Given the description of an element on the screen output the (x, y) to click on. 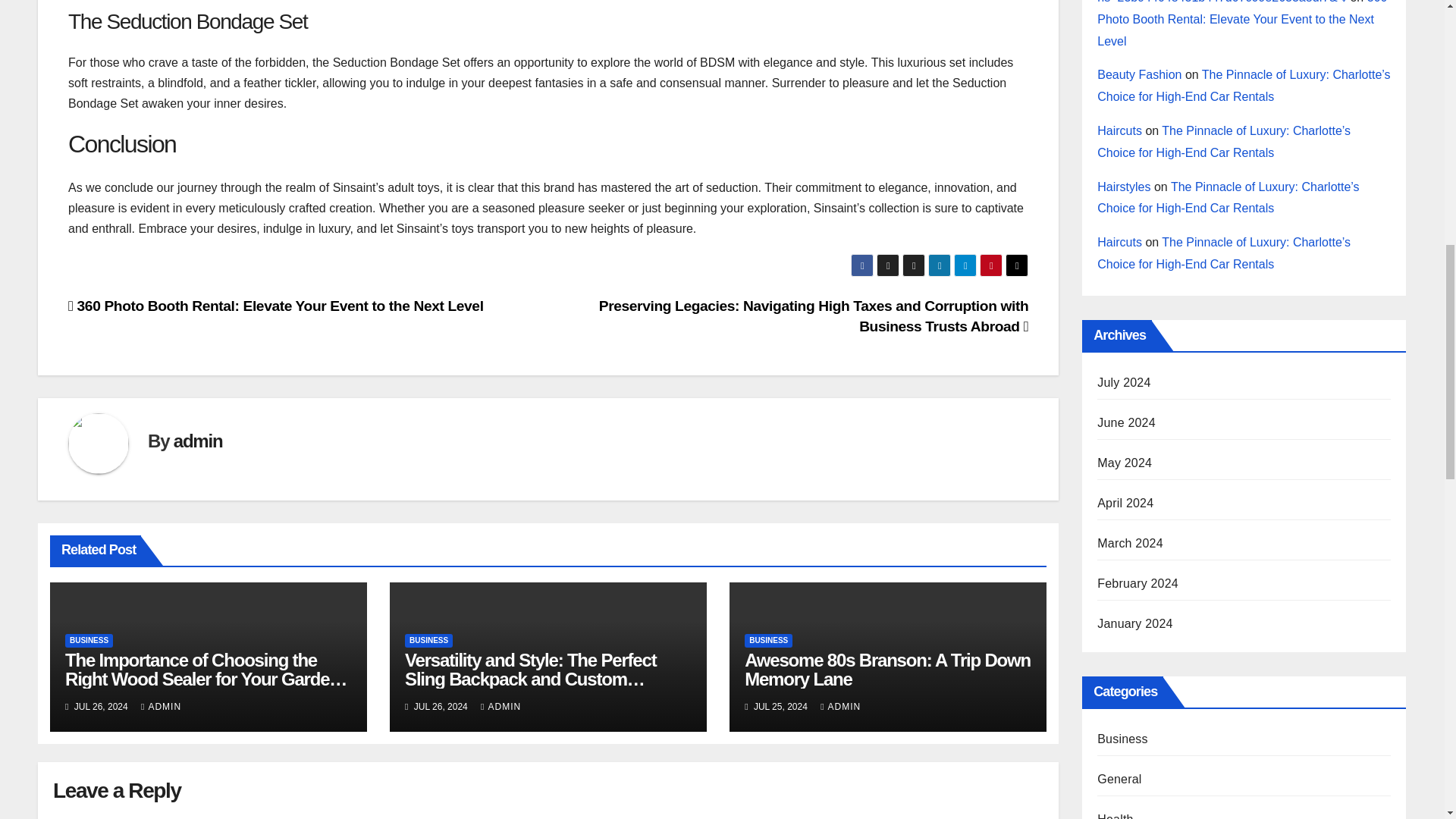
Permalink to: Awesome 80s Branson: A Trip Down Memory Lane (887, 669)
BUSINESS (89, 640)
360 Photo Booth Rental: Elevate Your Event to the Next Level (275, 305)
BUSINESS (768, 640)
BUSINESS (428, 640)
ADMIN (160, 706)
ADMIN (500, 706)
Awesome 80s Branson: A Trip Down Memory Lane (887, 669)
ADMIN (840, 706)
admin (197, 440)
